Given the description of an element on the screen output the (x, y) to click on. 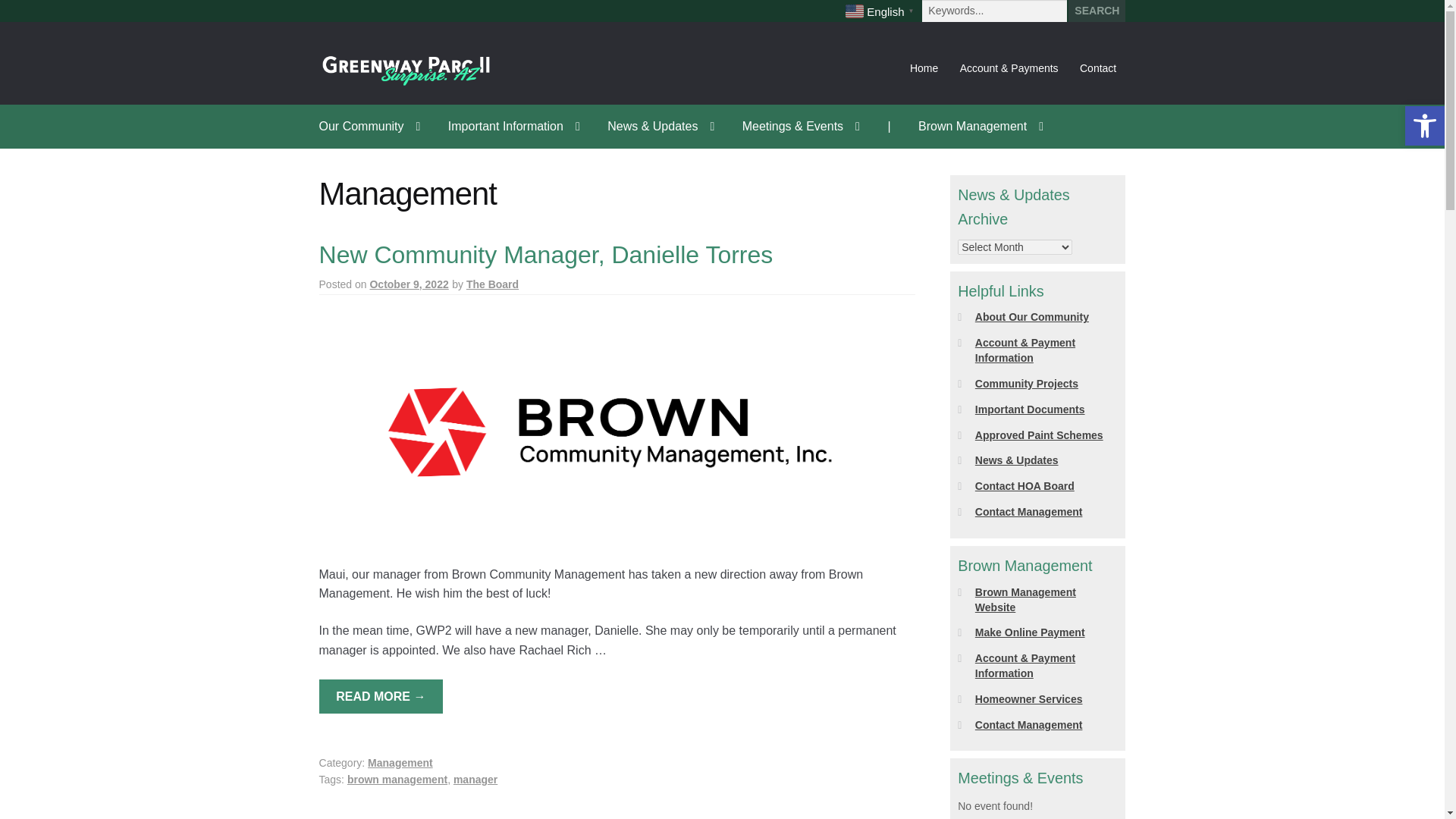
SEARCH (1096, 11)
Home (924, 68)
SEARCH (1096, 11)
Accessibility Tools (1424, 125)
Contact (1097, 68)
SEARCH (1096, 11)
Our Community (369, 126)
